Given the description of an element on the screen output the (x, y) to click on. 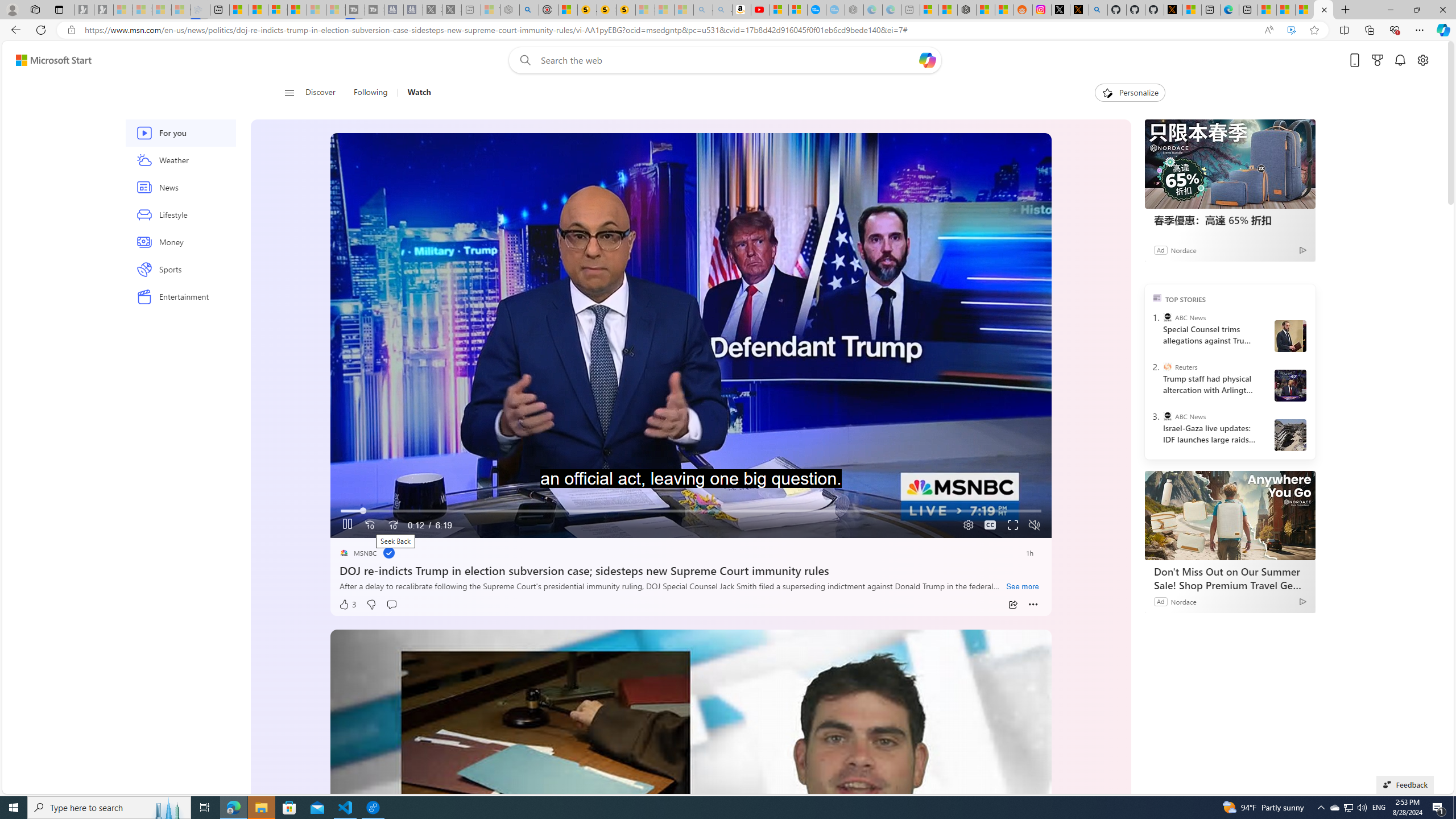
Start the conversation (391, 604)
Watch (418, 92)
placeholder MSNBC (358, 552)
MSNBC - MSN (1285, 9)
Notifications (1400, 60)
New tab - Sleeping (910, 9)
